Given the description of an element on the screen output the (x, y) to click on. 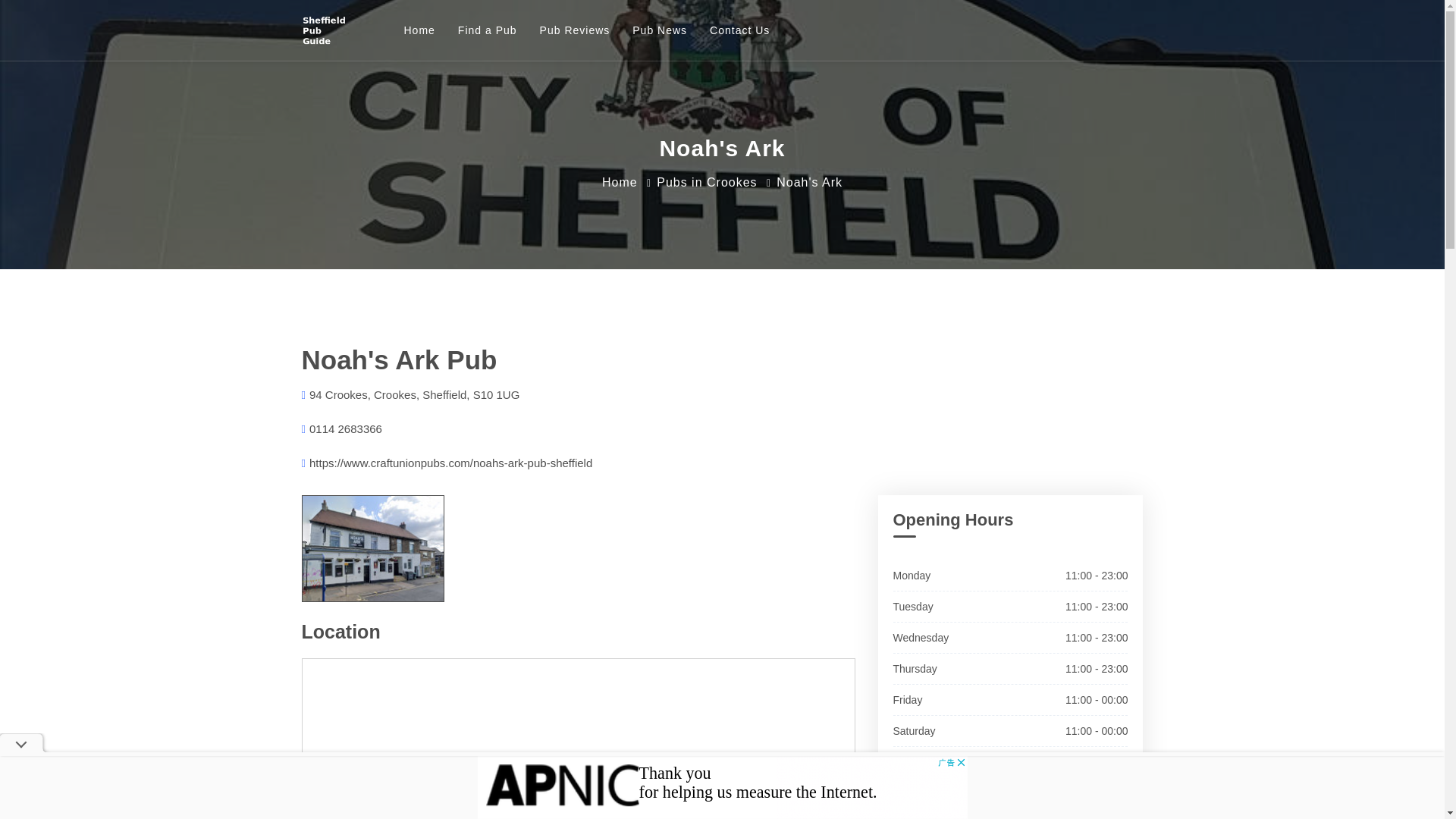
Pub Reviews (574, 30)
Pub News (659, 30)
Contact Us (739, 30)
Pubs in Crookes (706, 182)
Advertisement (722, 787)
0114 2683366 (344, 428)
Home (619, 182)
Find a Pub (487, 30)
